Given the description of an element on the screen output the (x, y) to click on. 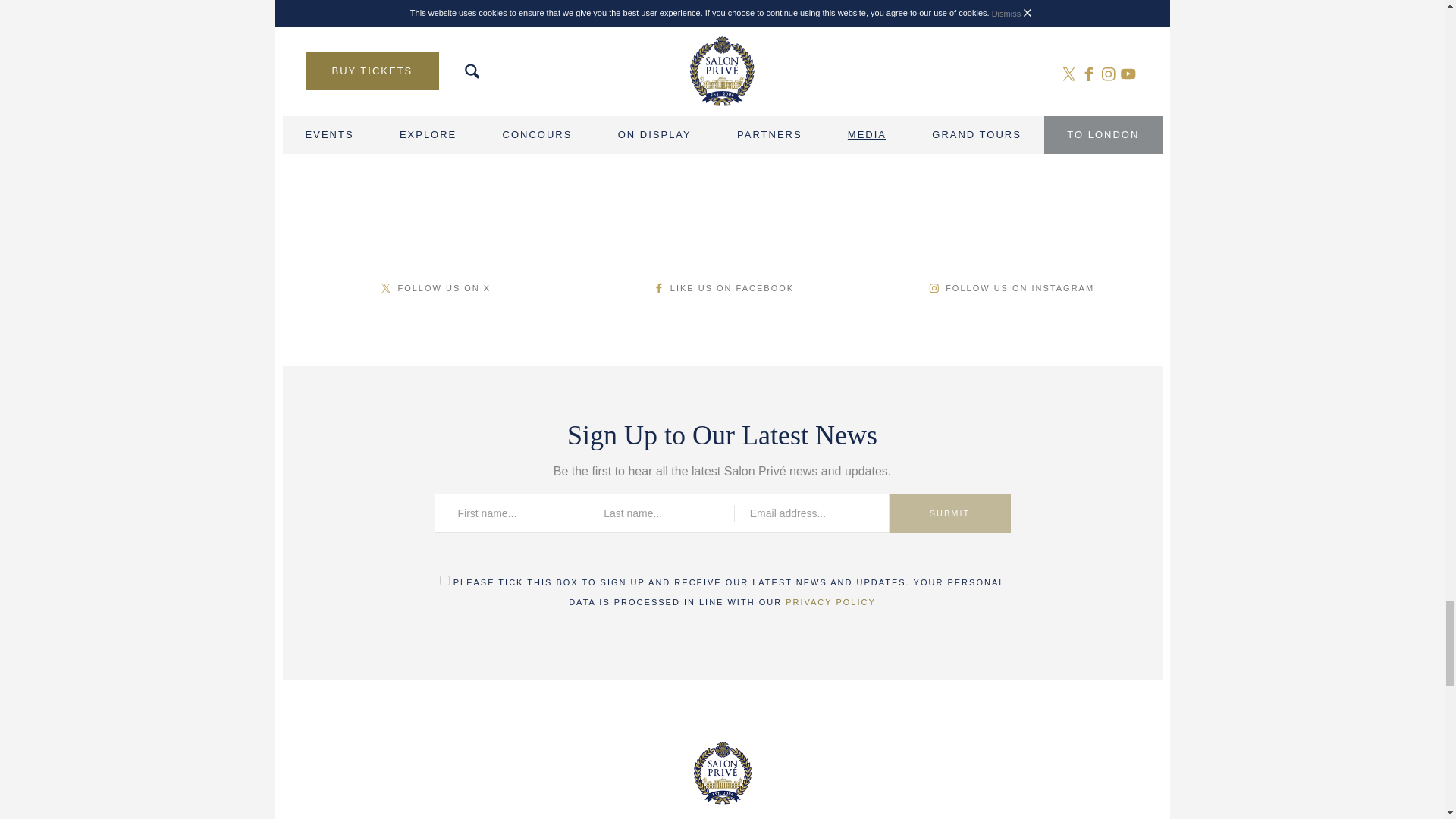
Follow us on X (433, 287)
1 (444, 580)
Like us on Facebook (721, 287)
